Given the description of an element on the screen output the (x, y) to click on. 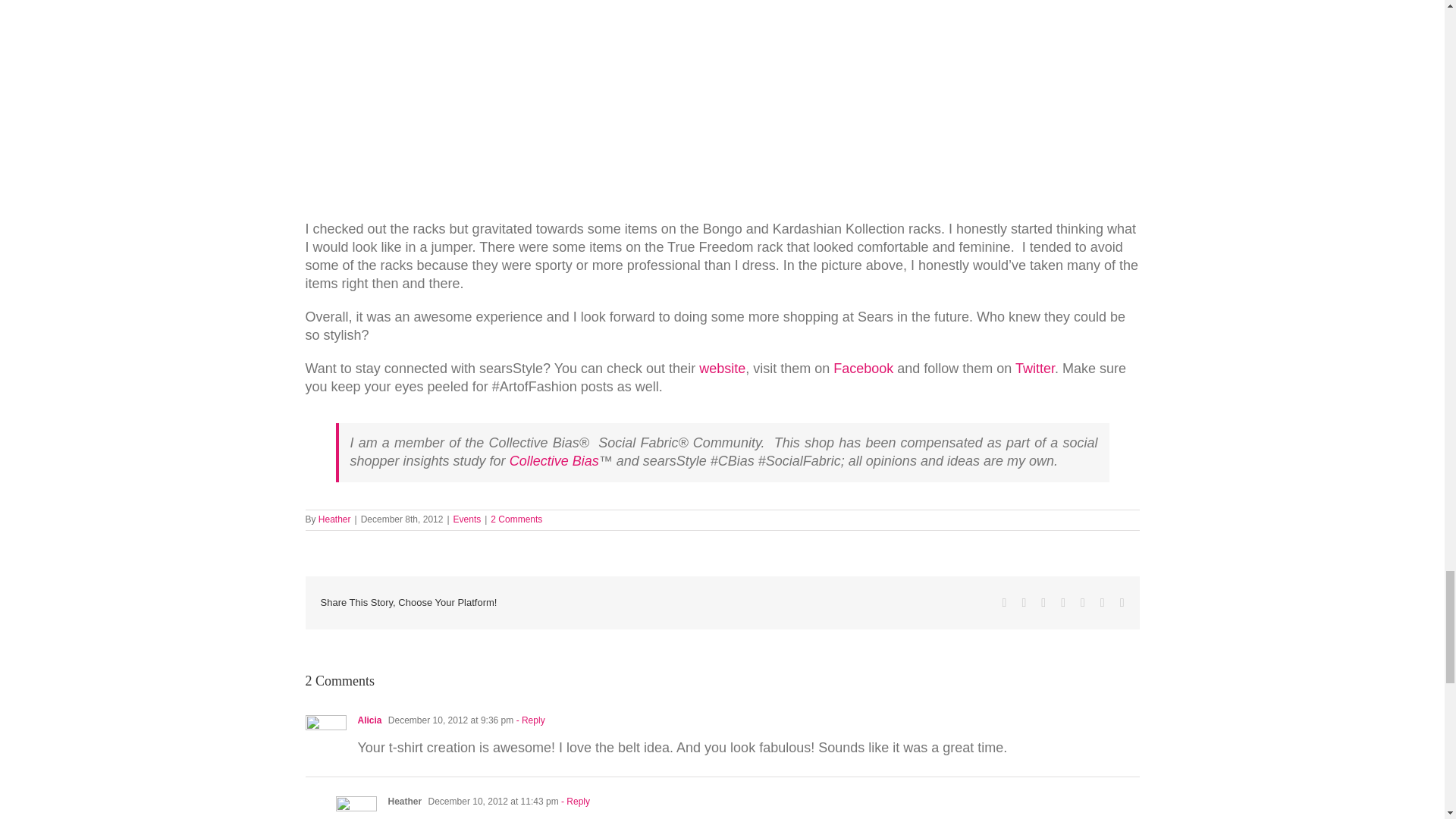
Collective Bias (551, 460)
website (721, 368)
Twitter (1034, 368)
Events (466, 519)
Facebook (862, 368)
Heather (334, 519)
2 Comments (515, 519)
